Given the description of an element on the screen output the (x, y) to click on. 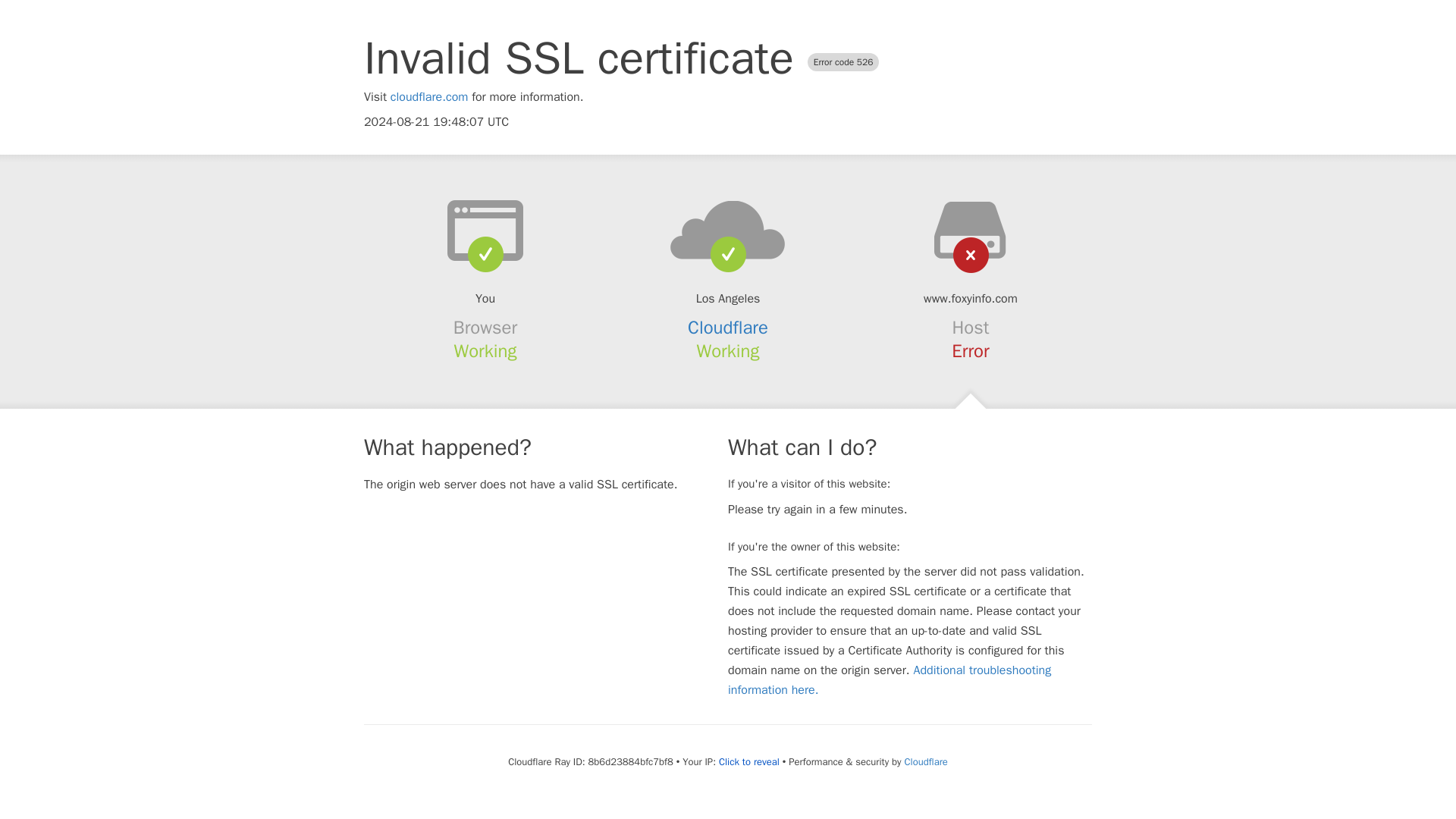
Cloudflare (925, 761)
Cloudflare (727, 327)
Additional troubleshooting information here. (889, 679)
Click to reveal (748, 762)
cloudflare.com (429, 96)
